Given the description of an element on the screen output the (x, y) to click on. 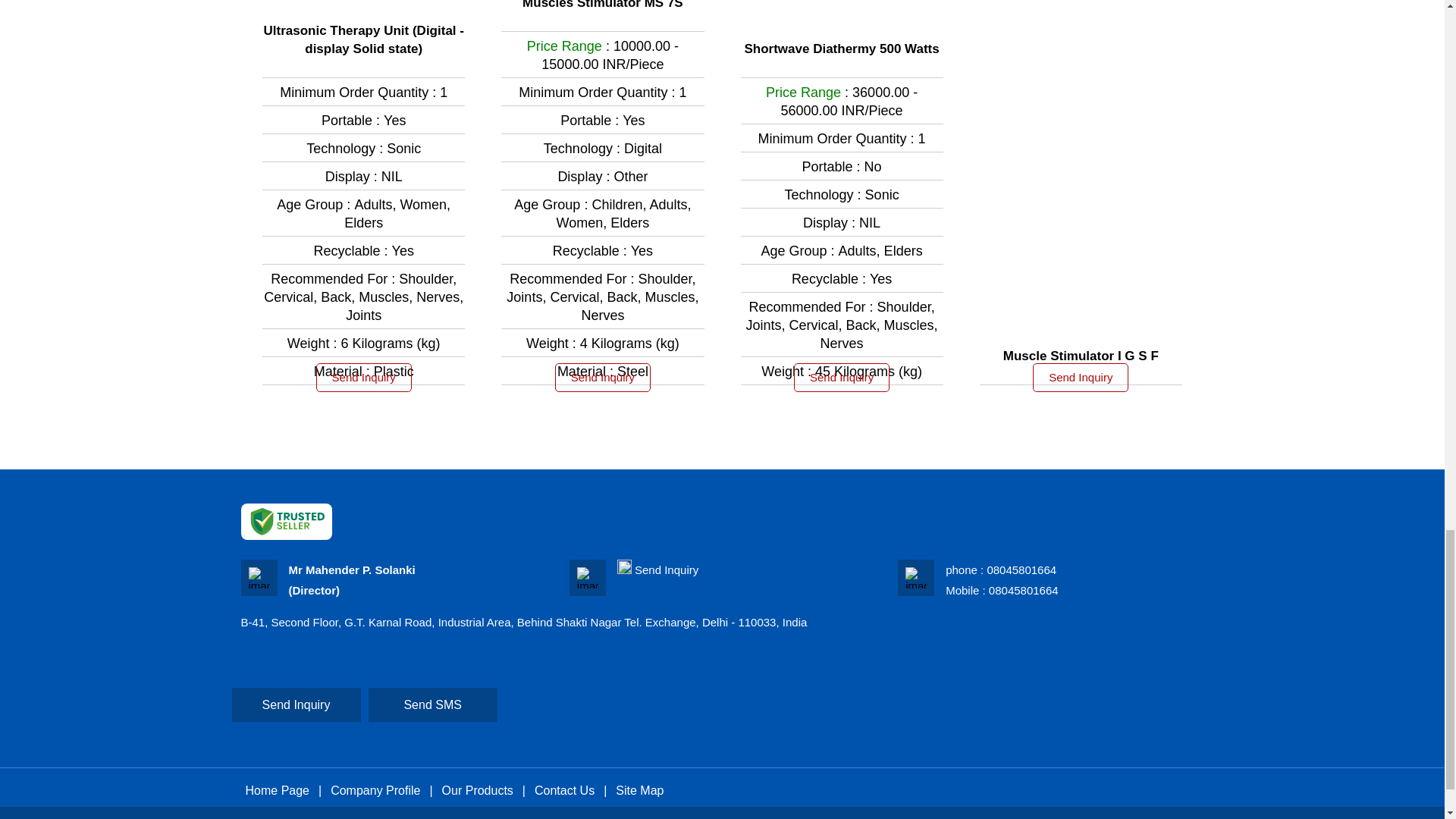
Send Inquiry (1080, 377)
Send Inquiry (602, 377)
Send Inquiry (363, 377)
Send Inquiry (841, 377)
Muscle Stimulator I G S F (1080, 356)
Shortwave Diathermy 500 Watts (841, 49)
Accepts only Domestic Inquiries (624, 566)
Send Inquiry (666, 569)
Muscles Stimulator MS 7S (602, 6)
